Given the description of an element on the screen output the (x, y) to click on. 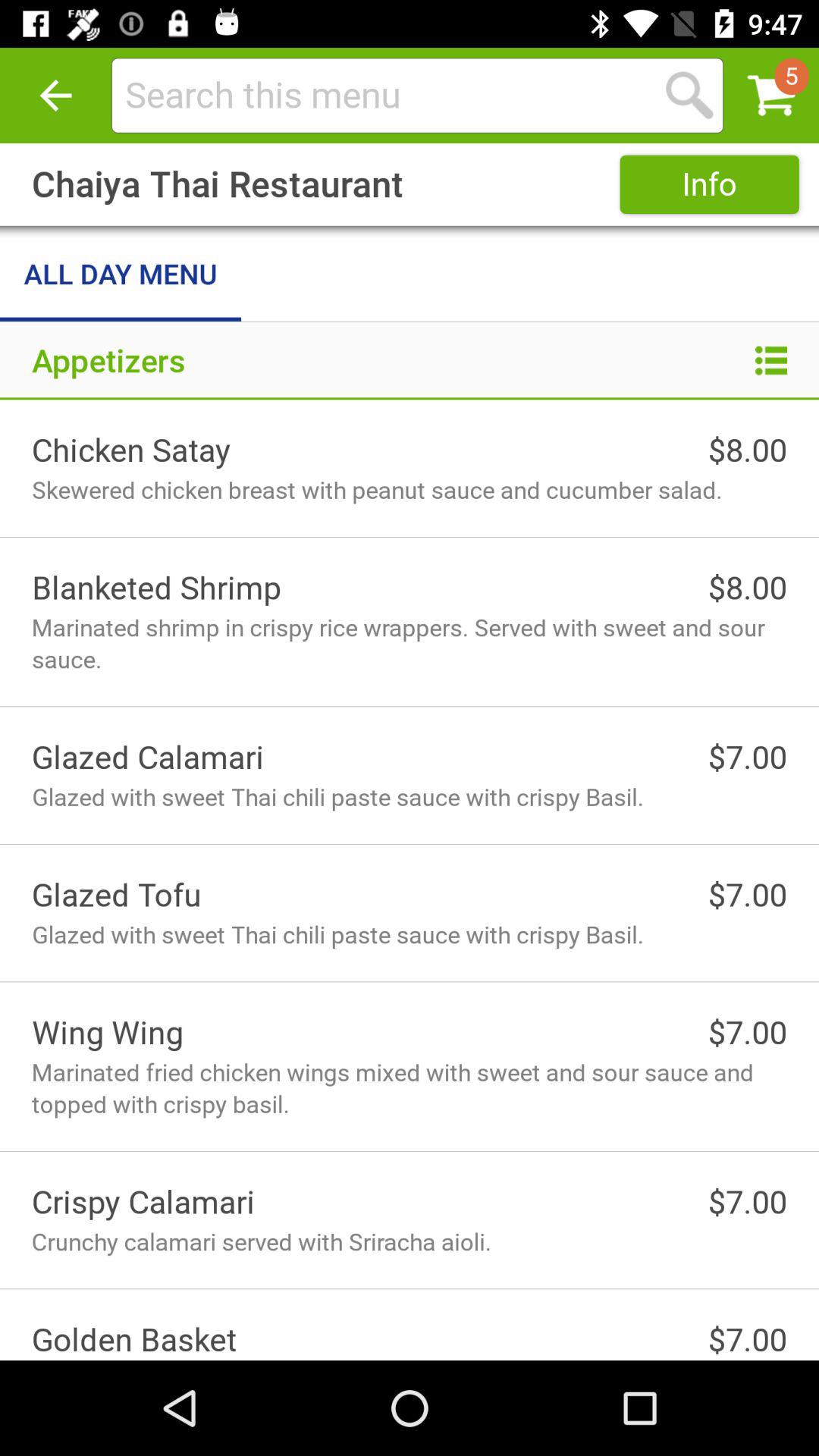
launch icon next to chaiya thai restaurant (709, 184)
